Given the description of an element on the screen output the (x, y) to click on. 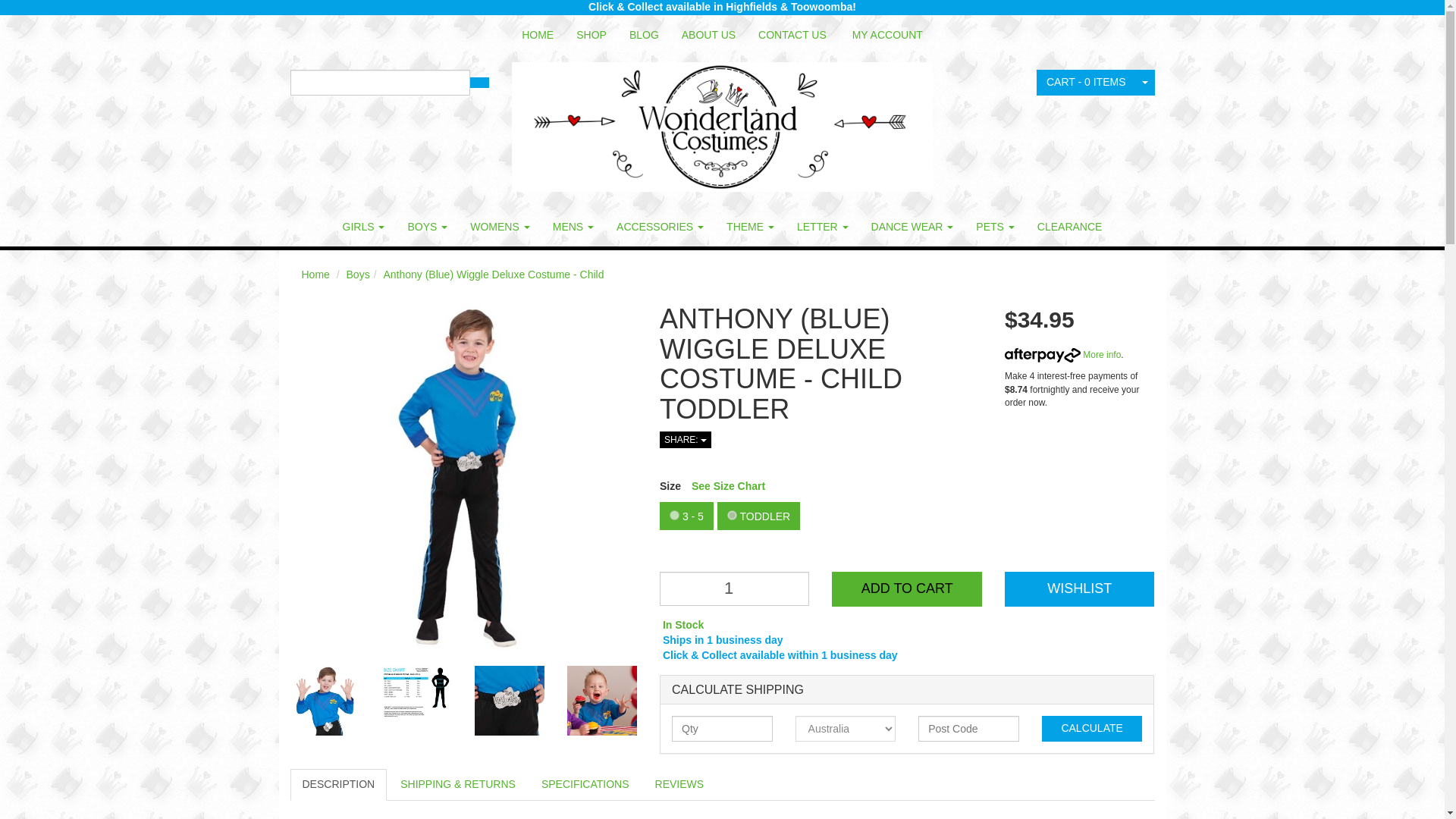
CART - 0 ITEMS (1085, 82)
Calculate (1092, 728)
HOME (537, 34)
Add to Cart (906, 588)
1 (734, 588)
BLOG (643, 34)
GIRLS (363, 226)
Size Chart (729, 485)
MY ACCOUNT (887, 34)
CONTACT US (792, 34)
Large View (416, 700)
Large View (324, 700)
1249 (674, 515)
Large View (602, 700)
BOYS (427, 226)
